Given the description of an element on the screen output the (x, y) to click on. 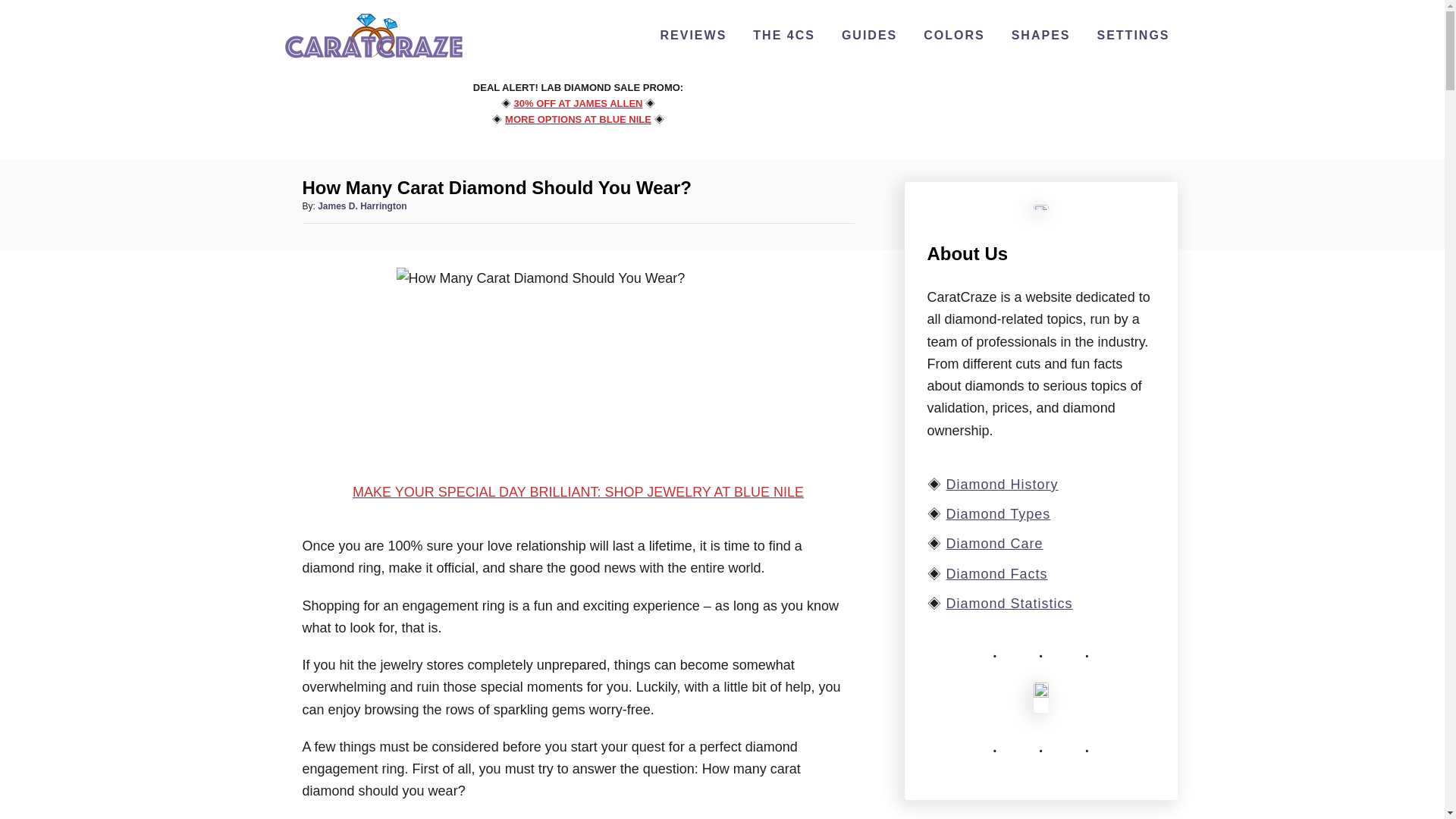
GUIDES (869, 35)
COLORS (953, 35)
REVIEWS (693, 35)
THE 4CS (783, 35)
CaratCraze (373, 59)
